Given the description of an element on the screen output the (x, y) to click on. 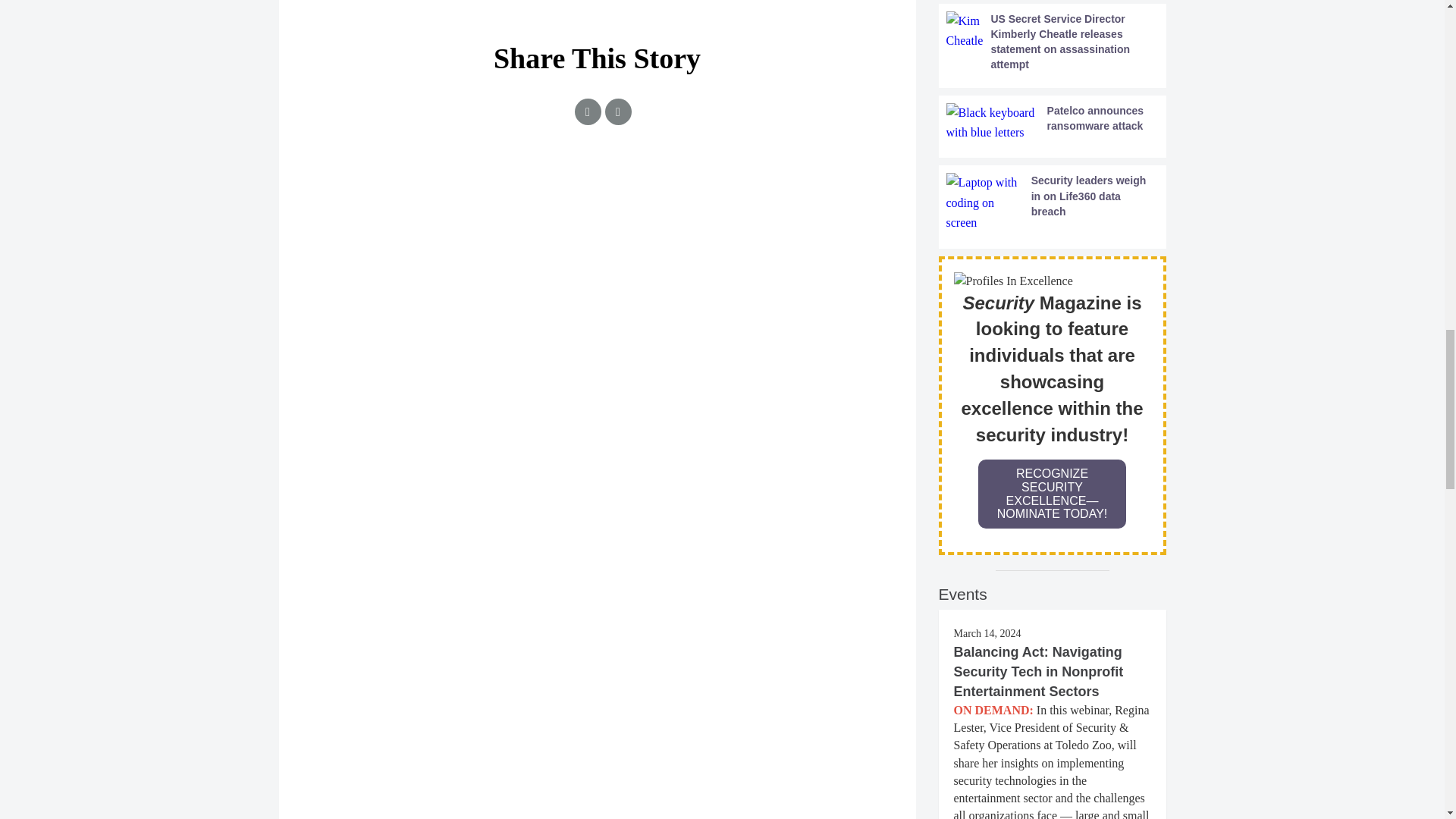
Patelco announces ransomware attack (1052, 123)
Security leaders weigh in on Life360 data breach (1052, 202)
